Given the description of an element on the screen output the (x, y) to click on. 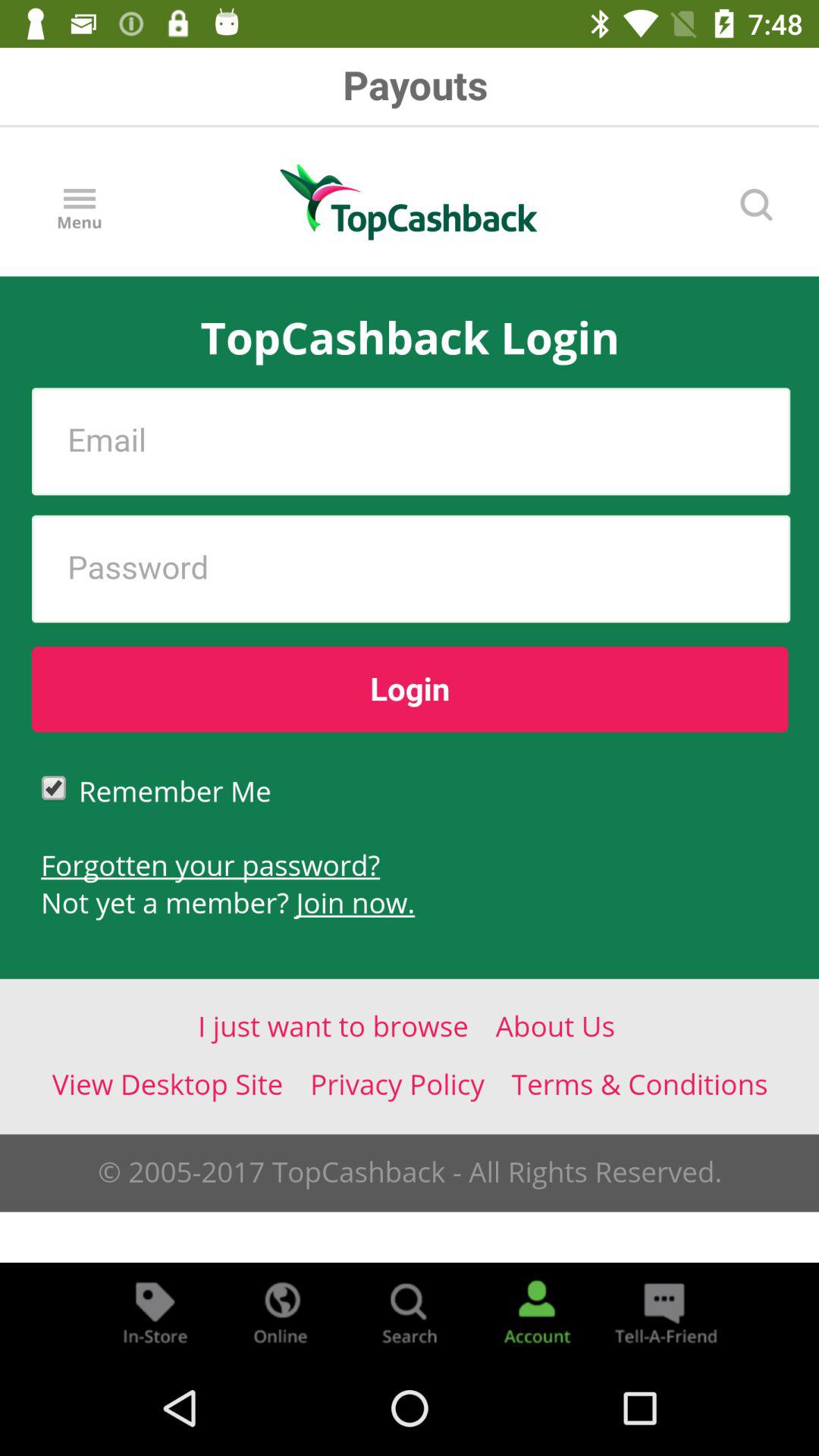
pull up online store (281, 1311)
